Given the description of an element on the screen output the (x, y) to click on. 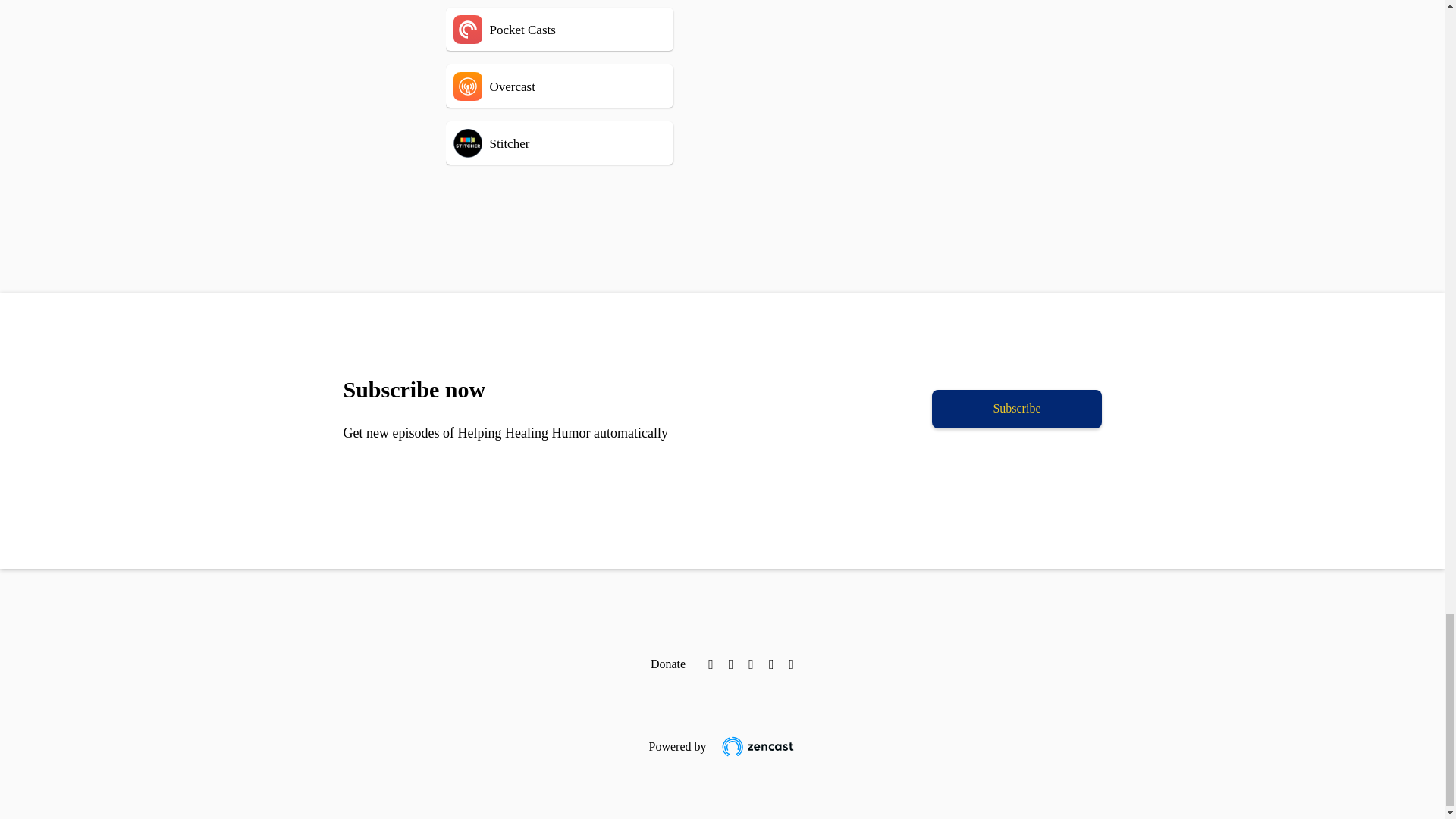
Subscribe (1015, 408)
Donate (667, 663)
Pocket Casts (582, 28)
Stitcher (582, 142)
Overcast (582, 85)
